Given the description of an element on the screen output the (x, y) to click on. 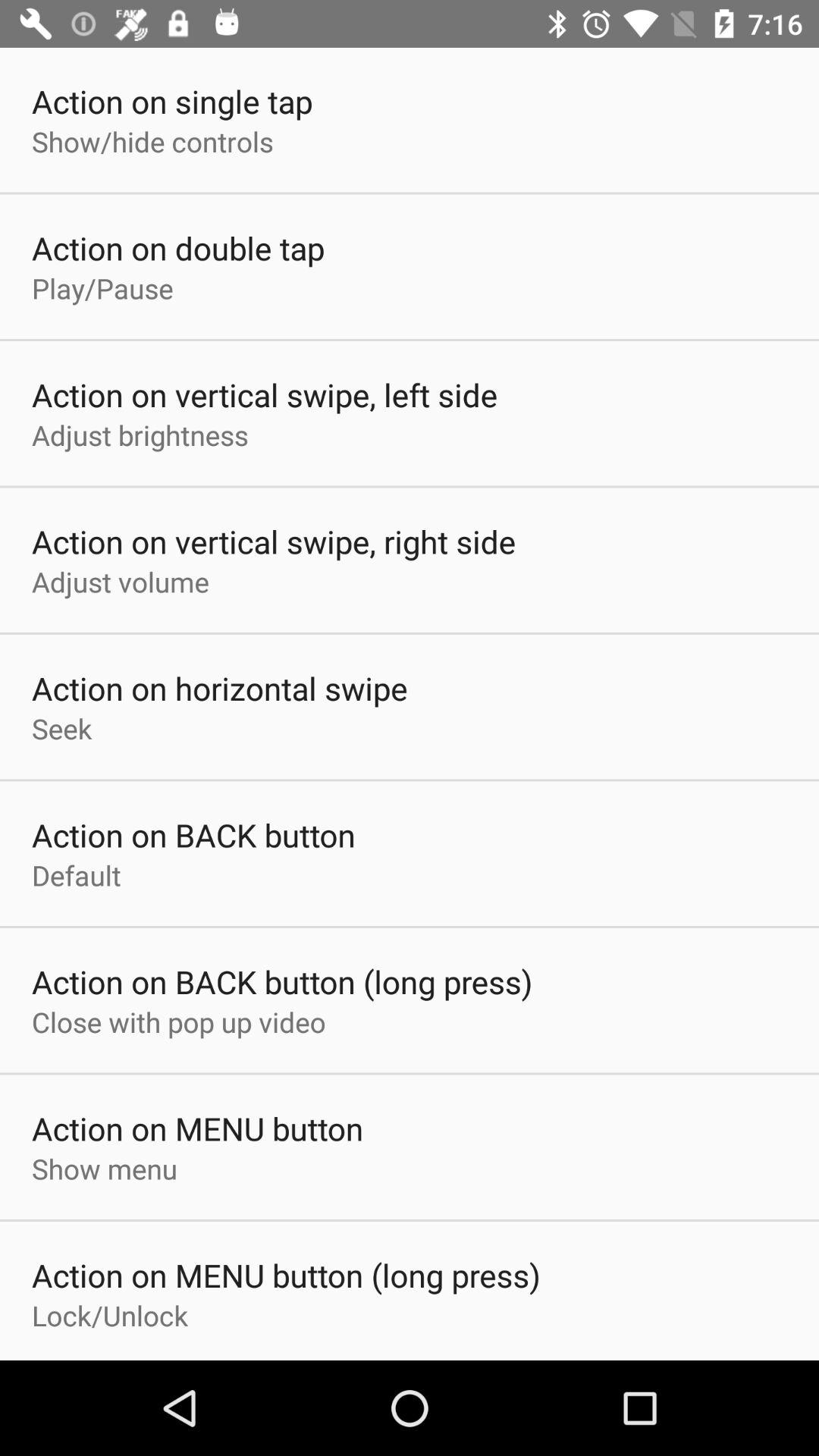
press play/pause (102, 288)
